Given the description of an element on the screen output the (x, y) to click on. 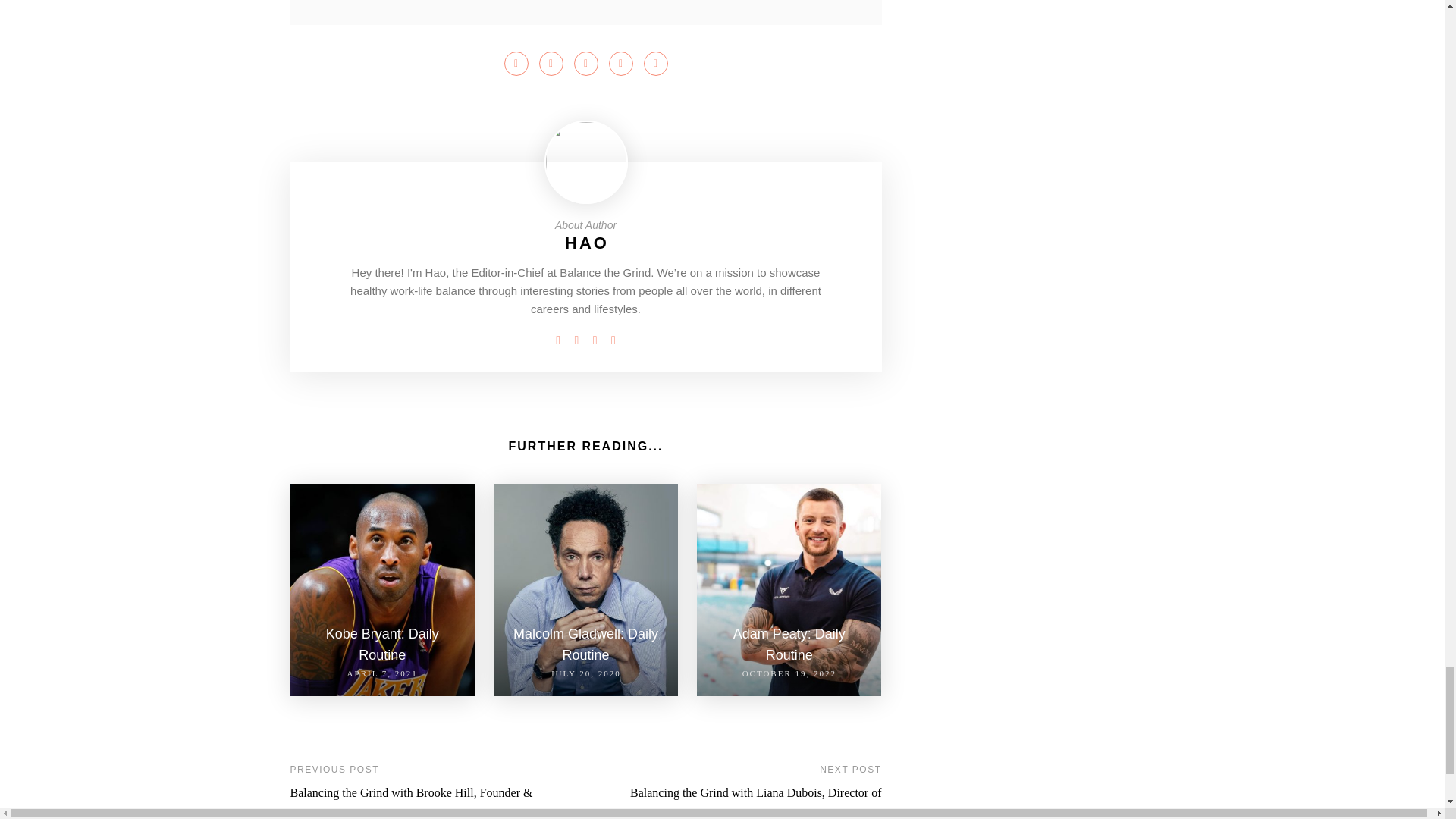
Posts by hao (586, 242)
